Given the description of an element on the screen output the (x, y) to click on. 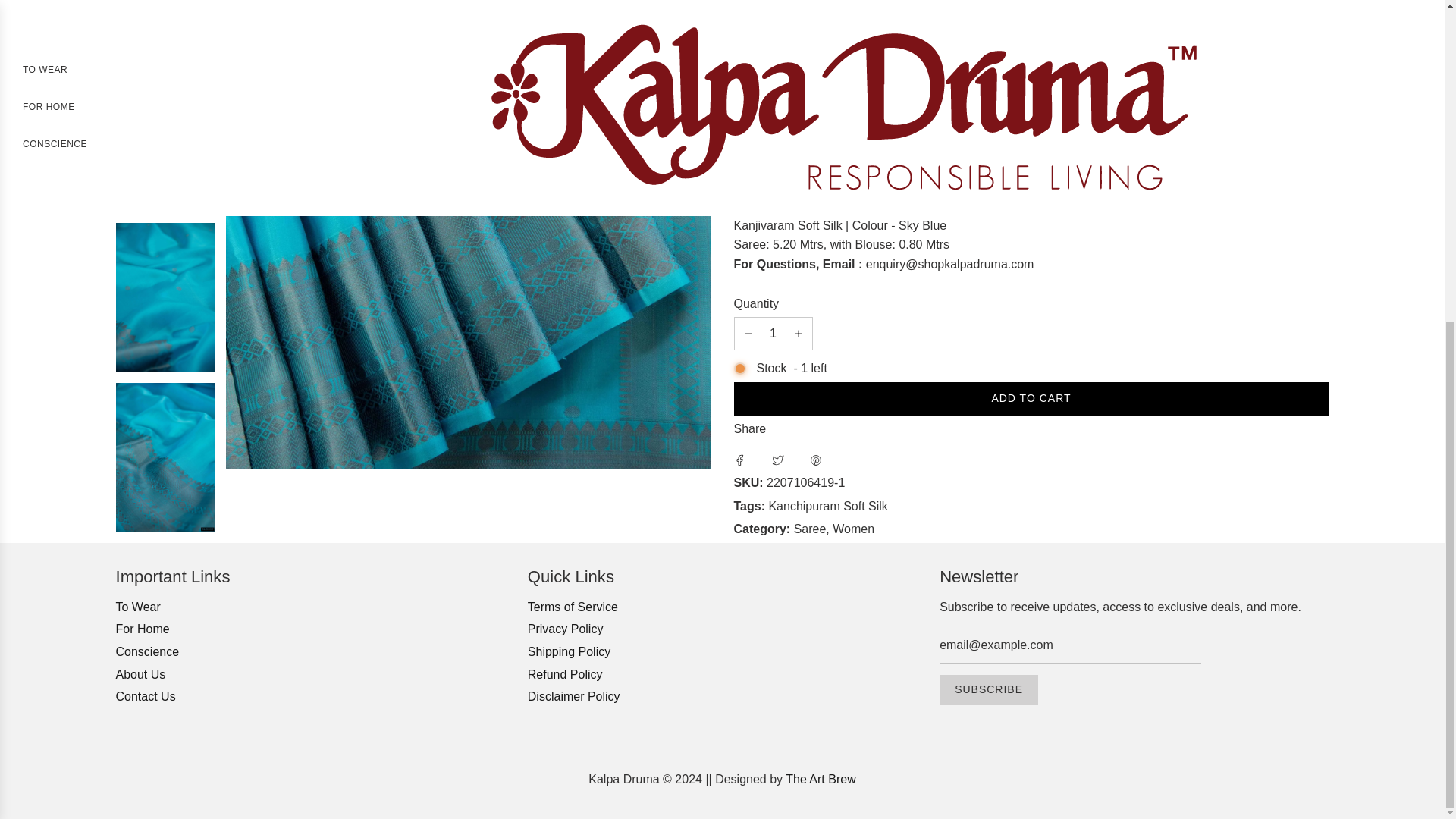
1 (772, 33)
Subscribe (988, 689)
